Given the description of an element on the screen output the (x, y) to click on. 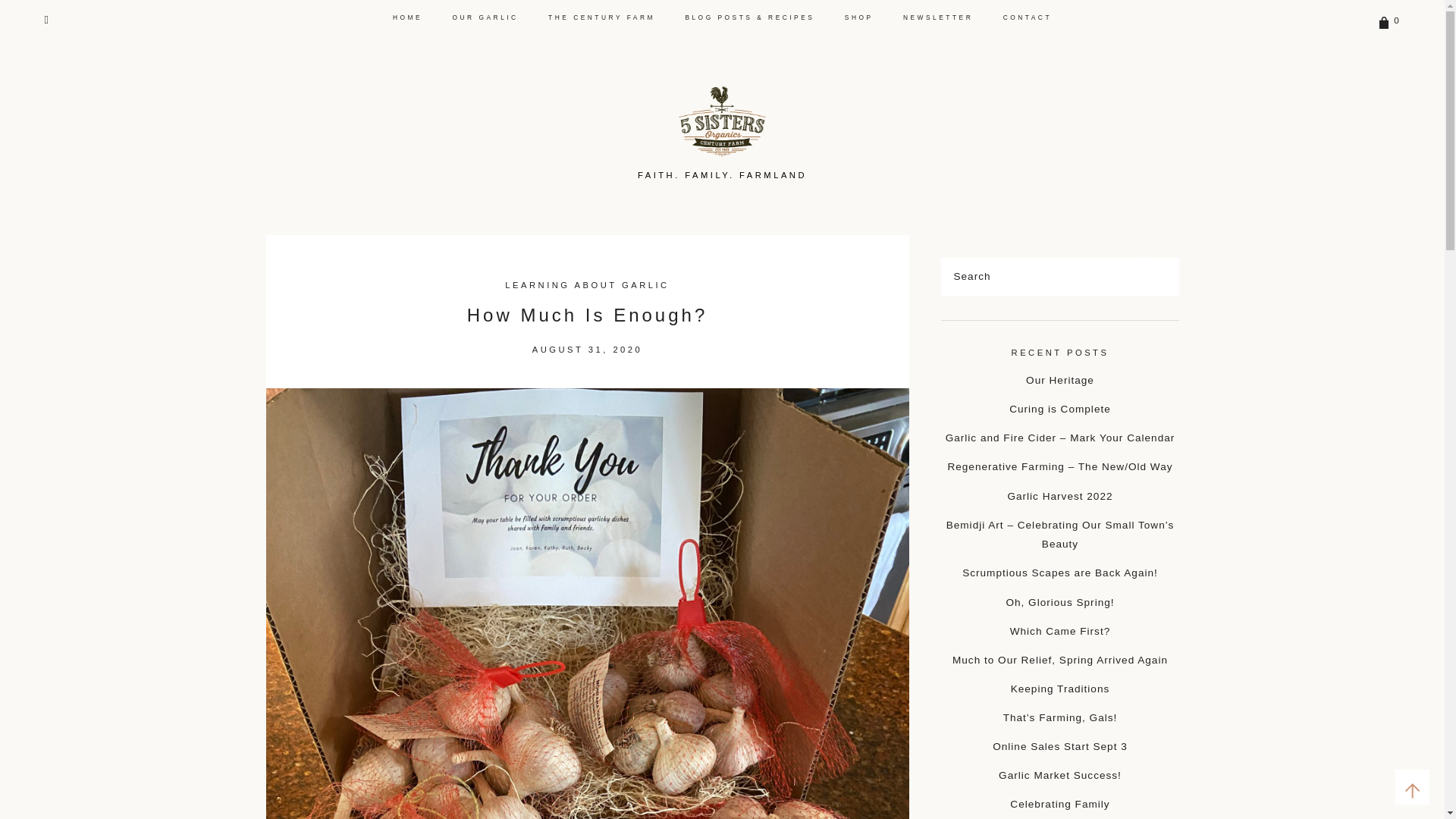
Scrumptious Scapes are Back Again! (1059, 572)
SHOP (858, 13)
0 (1389, 20)
CONTACT (1027, 13)
OUR GARLIC (485, 13)
SEARCH (1145, 260)
LEARNING ABOUT GARLIC (586, 284)
View your shopping cart (1389, 20)
Garlic Harvest 2022 (1059, 495)
HOME (407, 13)
Much to Our Relief, Spring Arrived Again (1059, 659)
THE CENTURY FARM (601, 13)
Curing is Complete (1059, 408)
Oh, Glorious Spring! (1059, 602)
AUGUST 31, 2020 (587, 348)
